Given the description of an element on the screen output the (x, y) to click on. 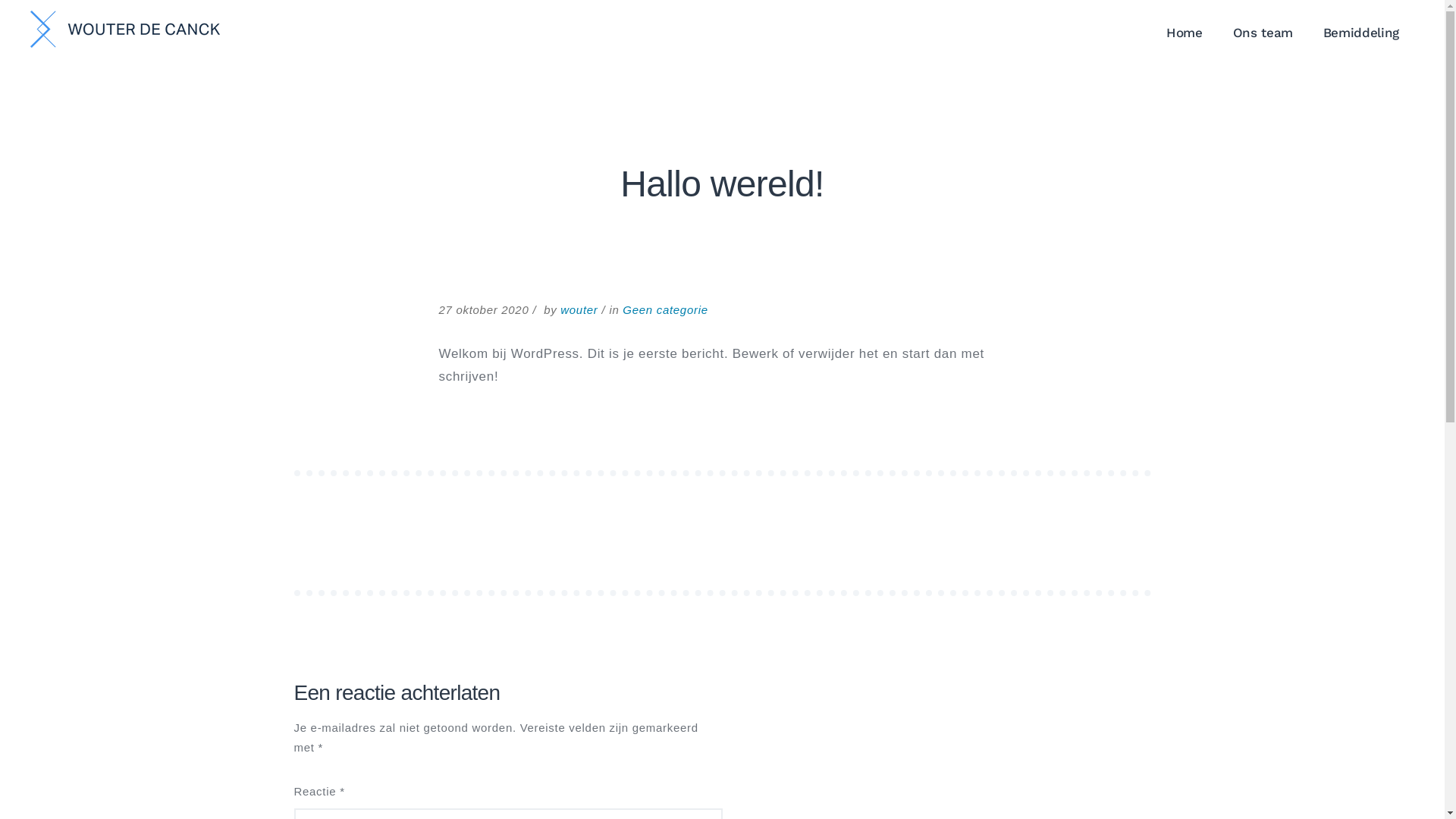
Geen categorie Element type: text (664, 309)
Home Element type: text (1184, 32)
Bemiddeling Element type: text (1361, 32)
wouter Element type: text (578, 309)
Ons team Element type: text (1262, 32)
